Given the description of an element on the screen output the (x, y) to click on. 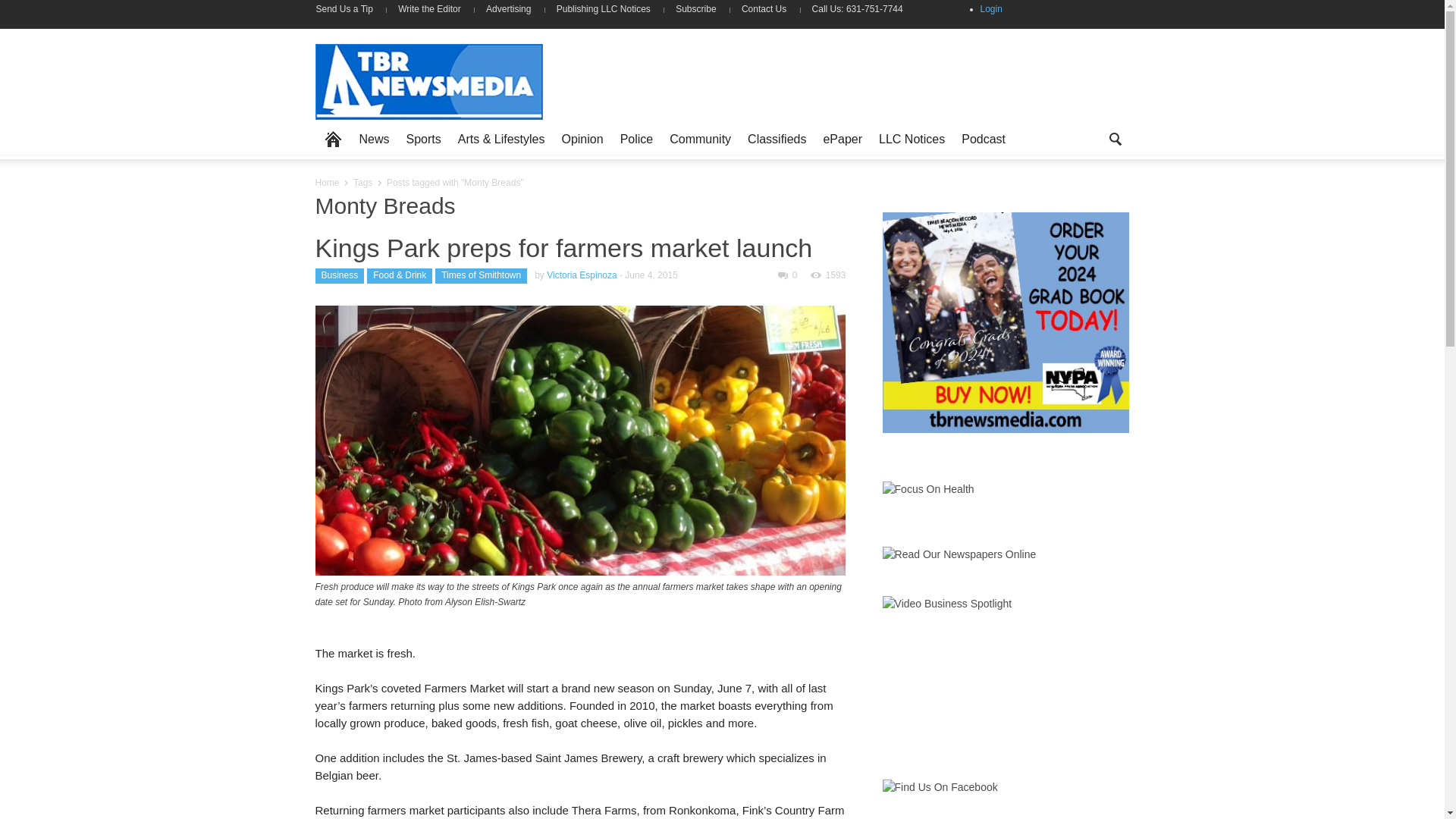
Write the Editor (429, 9)
Kings Park preps for farmers market launch (563, 247)
Contact Us (763, 9)
Send Us a Tip (349, 9)
YouTube video player (995, 668)
Advertising (507, 9)
